Given the description of an element on the screen output the (x, y) to click on. 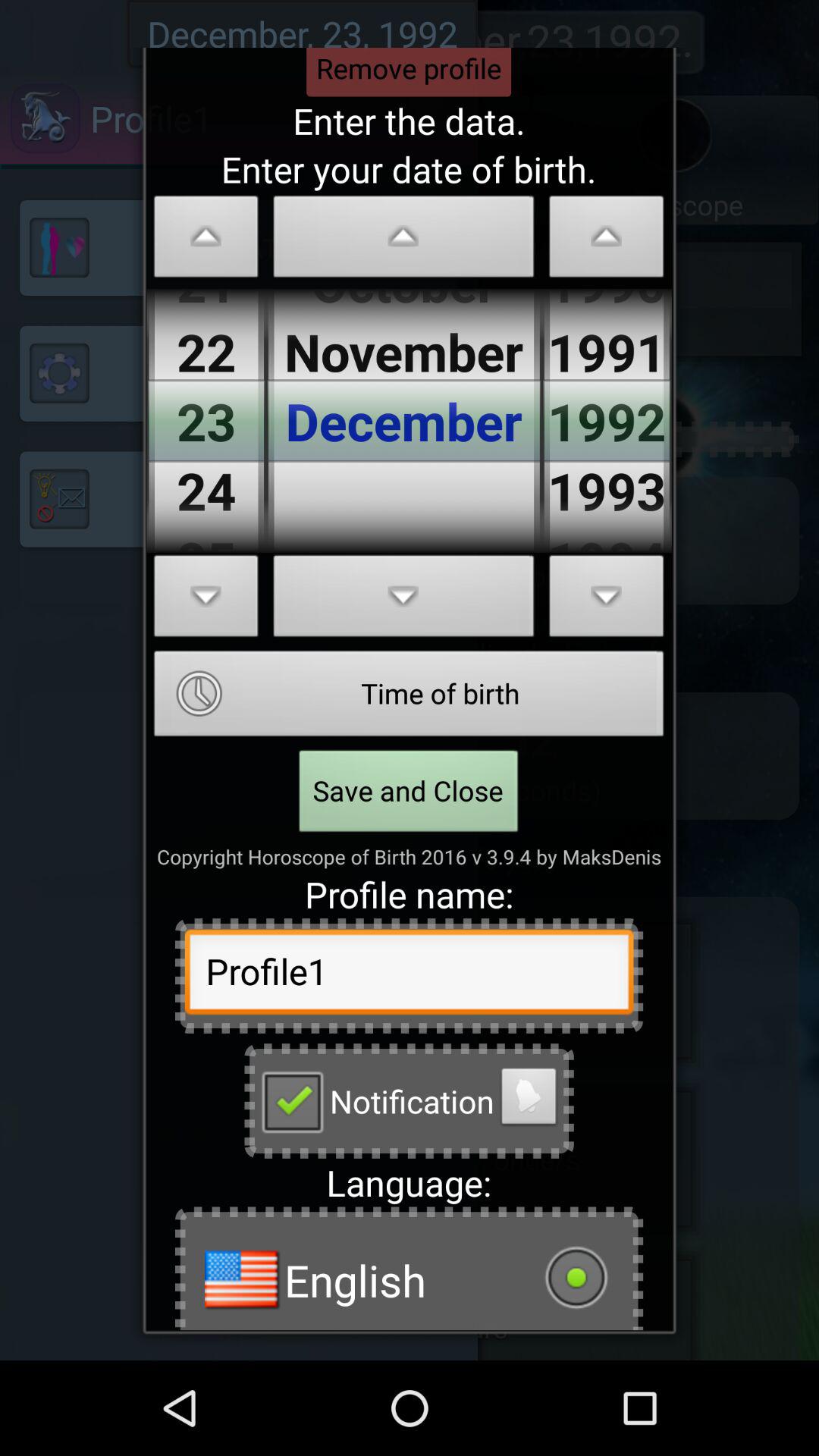
move date down (404, 600)
